Given the description of an element on the screen output the (x, y) to click on. 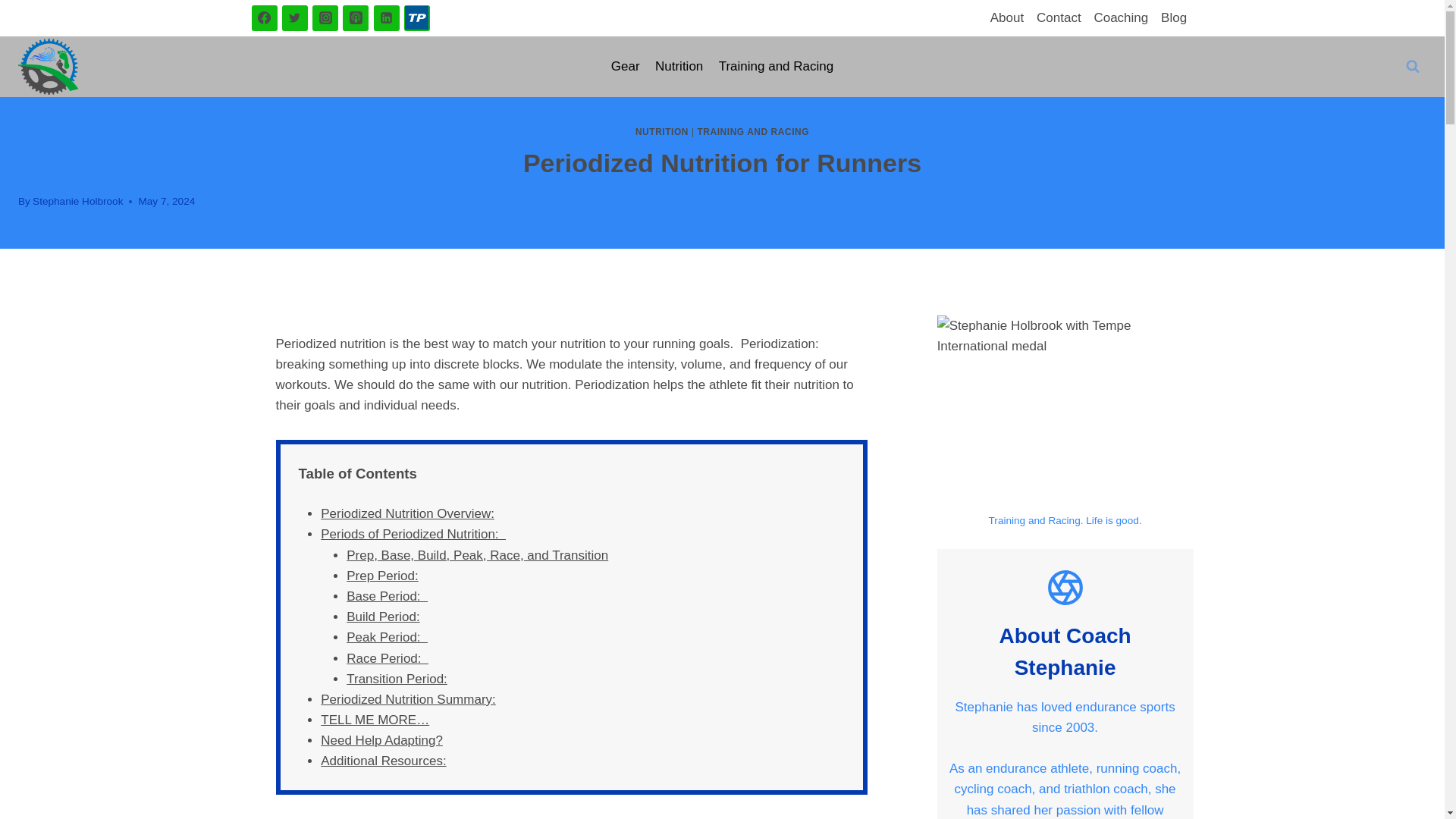
Contact (1058, 18)
Coaching (1120, 18)
Blog (1173, 18)
Gear (625, 66)
About (1006, 18)
Nutrition (679, 66)
Training and Racing (775, 66)
